Given the description of an element on the screen output the (x, y) to click on. 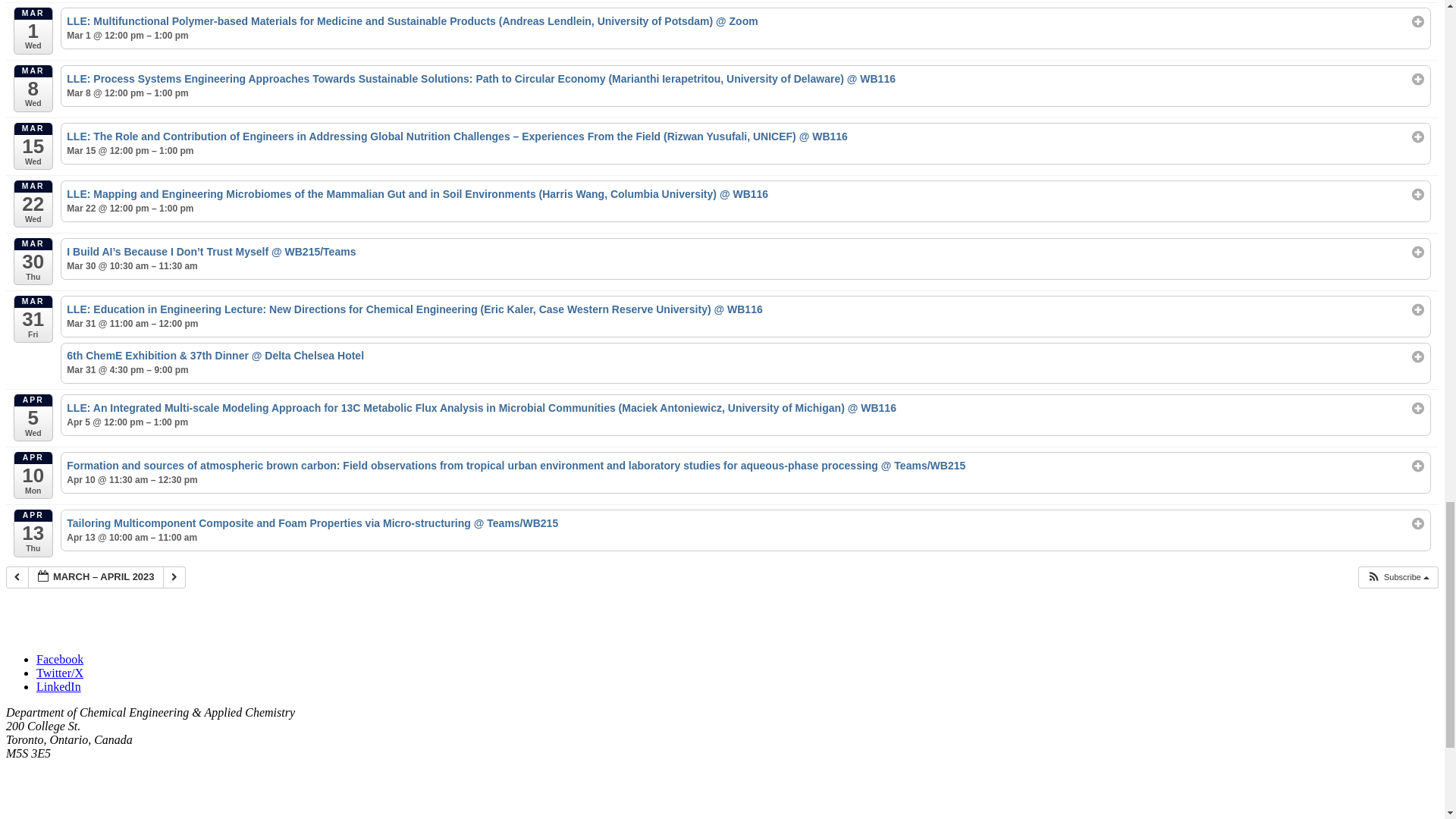
Choose a date using calendar (95, 577)
